Given the description of an element on the screen output the (x, y) to click on. 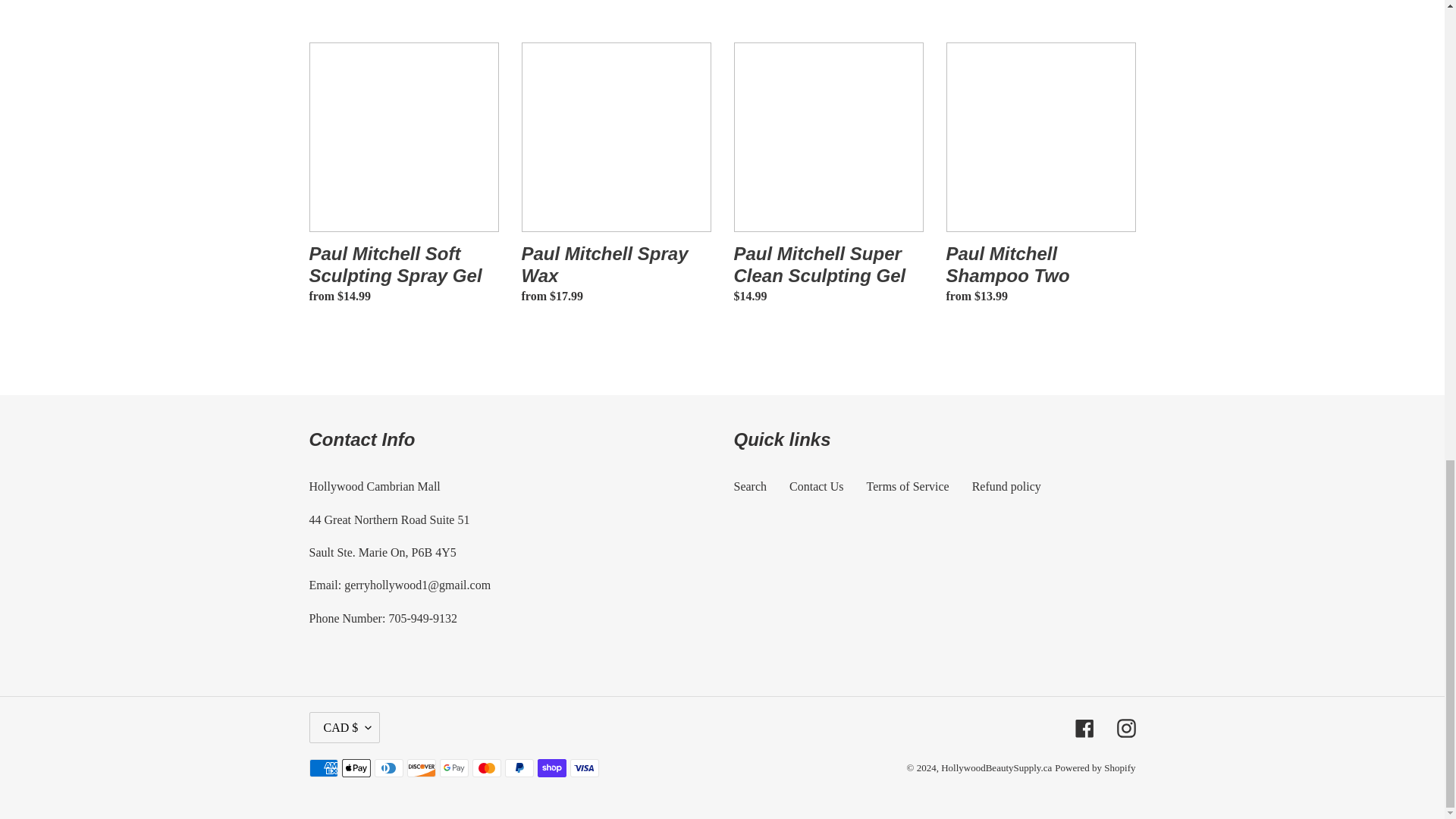
Refund policy (1006, 486)
Powered by Shopify (1094, 767)
Terms of Service (907, 486)
Instagram (1125, 727)
HollywoodBeautySupply.ca (995, 767)
Contact Us (816, 486)
Search (750, 486)
Facebook (1084, 727)
